Given the description of an element on the screen output the (x, y) to click on. 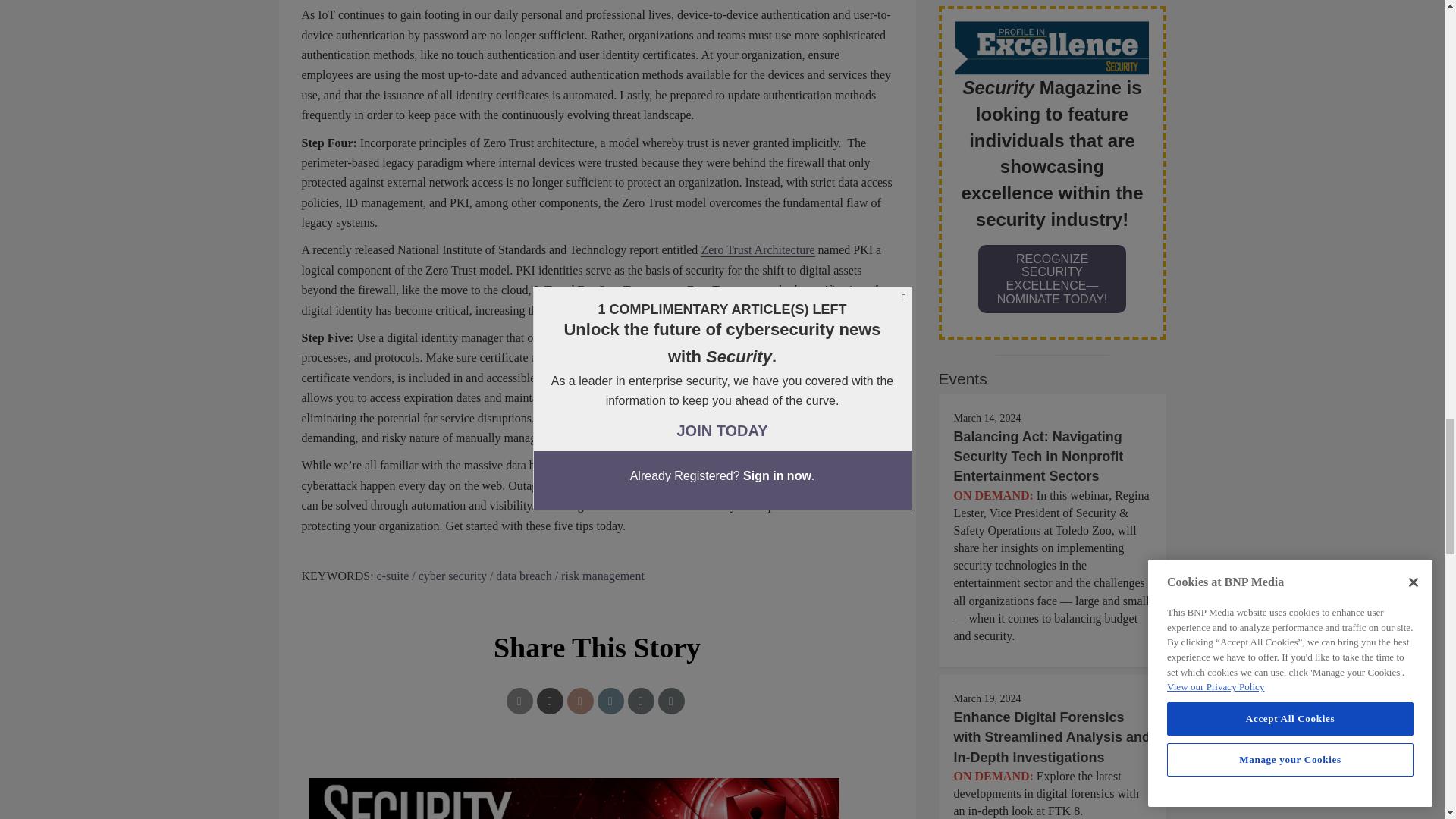
Interaction questions (597, 790)
